Given the description of an element on the screen output the (x, y) to click on. 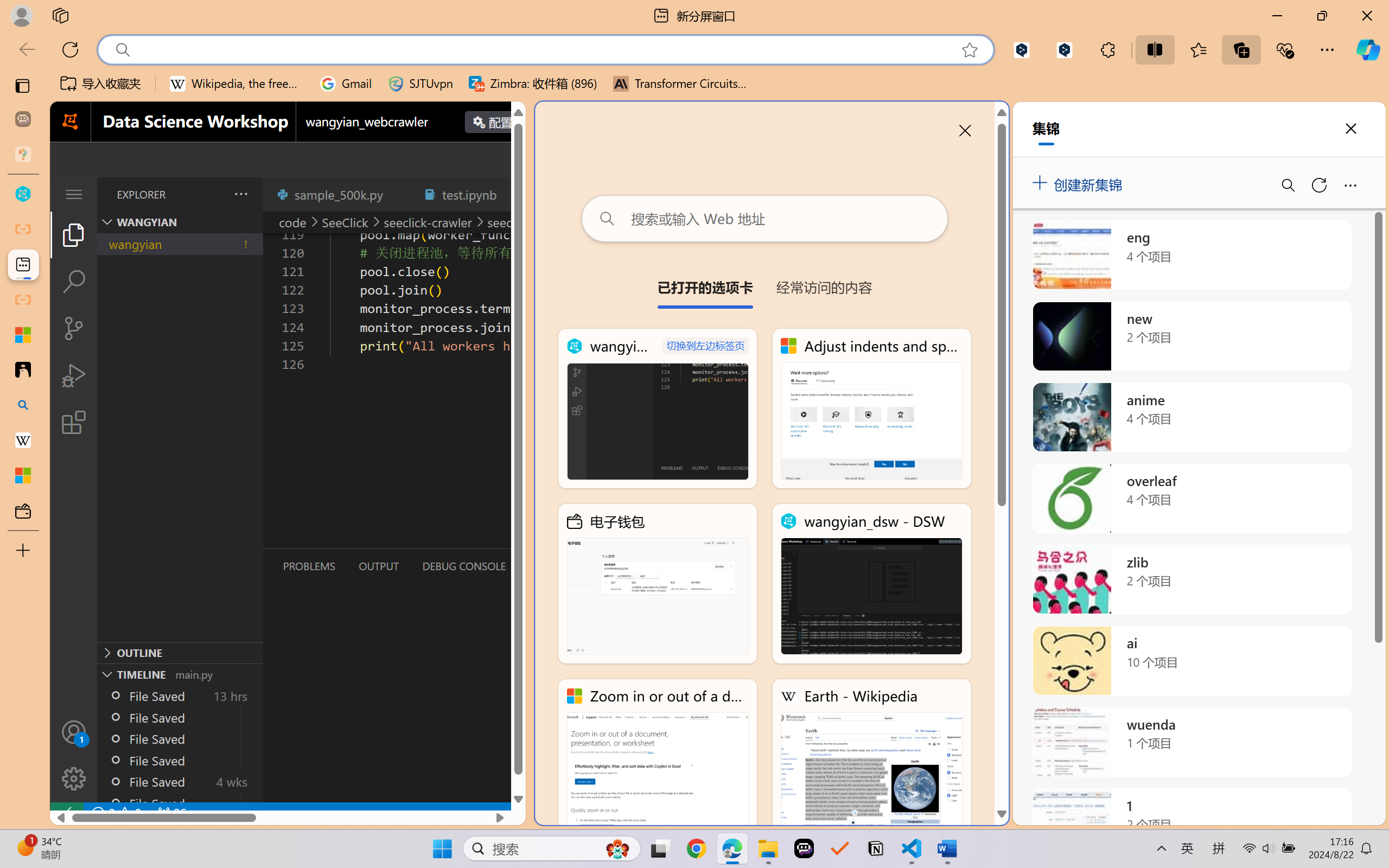
Close (Ctrl+F4) (512, 194)
Explorer Section: wangyian (179, 221)
Copilot (Ctrl+Shift+.) (1368, 49)
Class: menubar compact overflow-menu-only (73, 194)
Manage (73, 778)
test.ipynb (468, 194)
wangyian_webcrawler - DSW (657, 408)
Gmail (345, 83)
Timeline Section (179, 673)
